Given the description of an element on the screen output the (x, y) to click on. 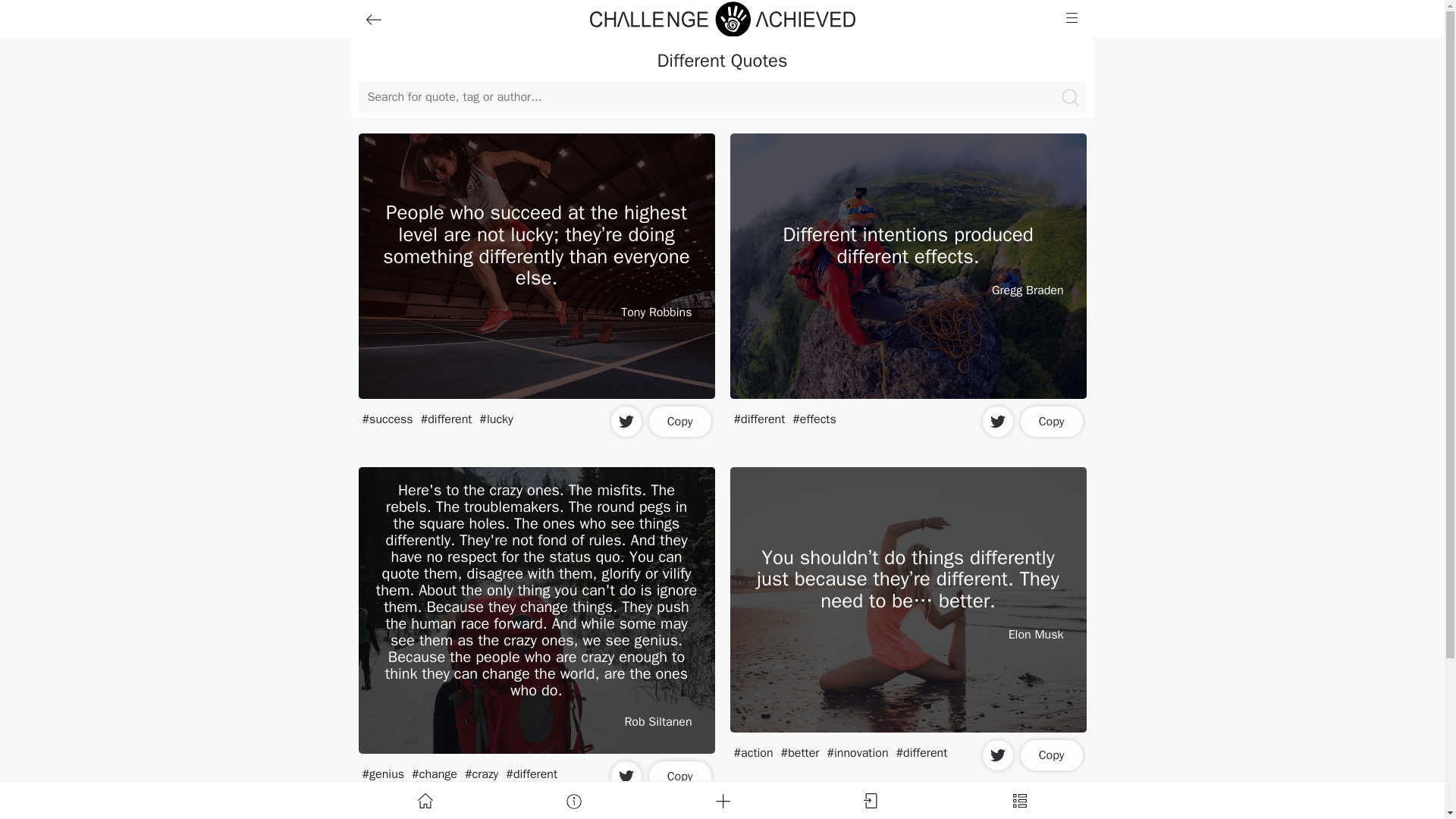
Copy (680, 776)
Different intentions produced different effects. (907, 248)
Gregg Braden (1027, 290)
Copy (1051, 421)
Rob Siltanen (656, 721)
Copy (680, 421)
More Quotes (721, 816)
Elon Musk (1036, 634)
Copy (1051, 755)
